Given the description of an element on the screen output the (x, y) to click on. 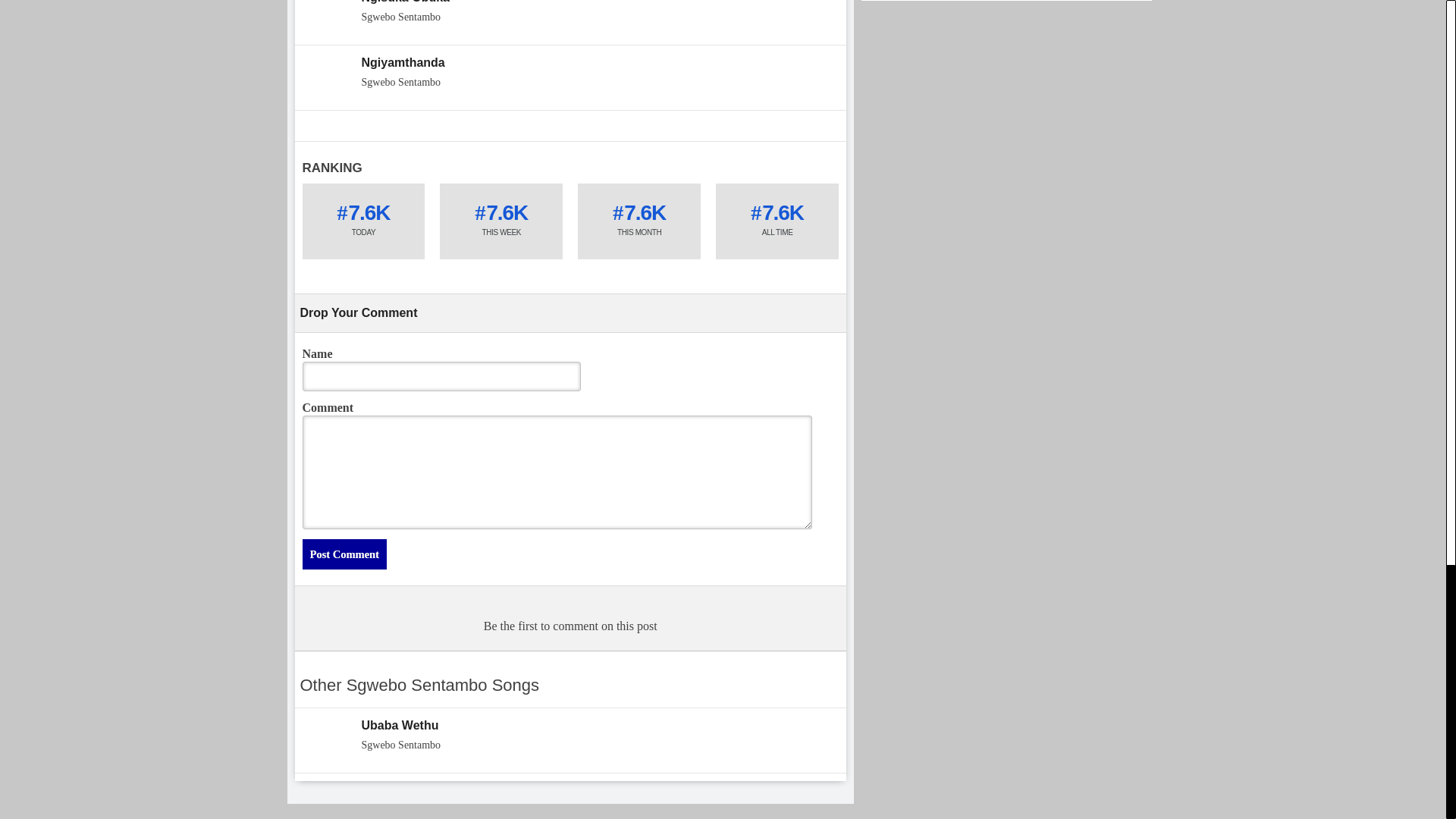
Post Comment (343, 553)
